Given the description of an element on the screen output the (x, y) to click on. 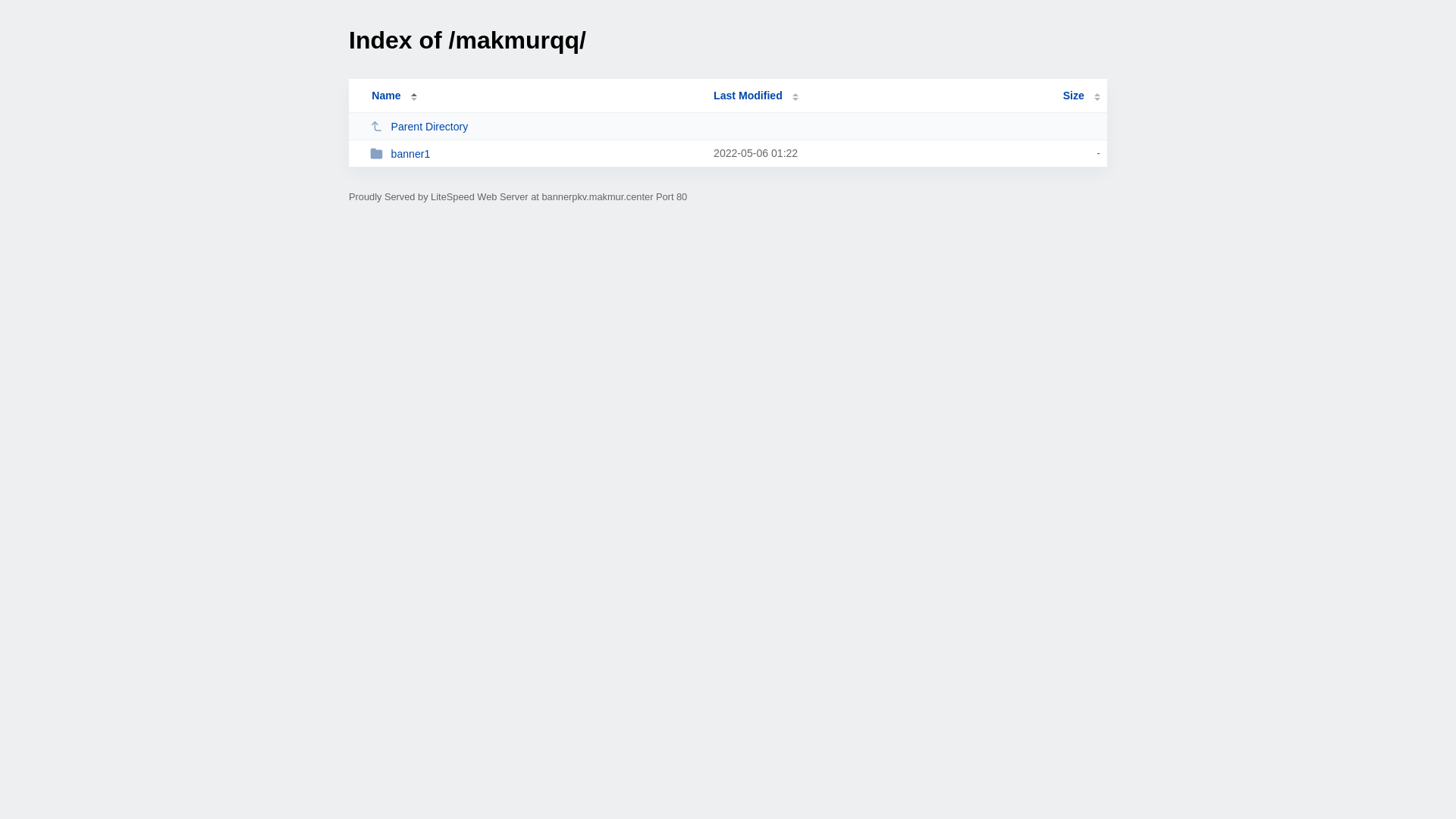
Last Modified Element type: text (755, 95)
Name Element type: text (385, 95)
banner1 Element type: text (534, 153)
Parent Directory Element type: text (534, 125)
Size Element type: text (1081, 95)
